Given the description of an element on the screen output the (x, y) to click on. 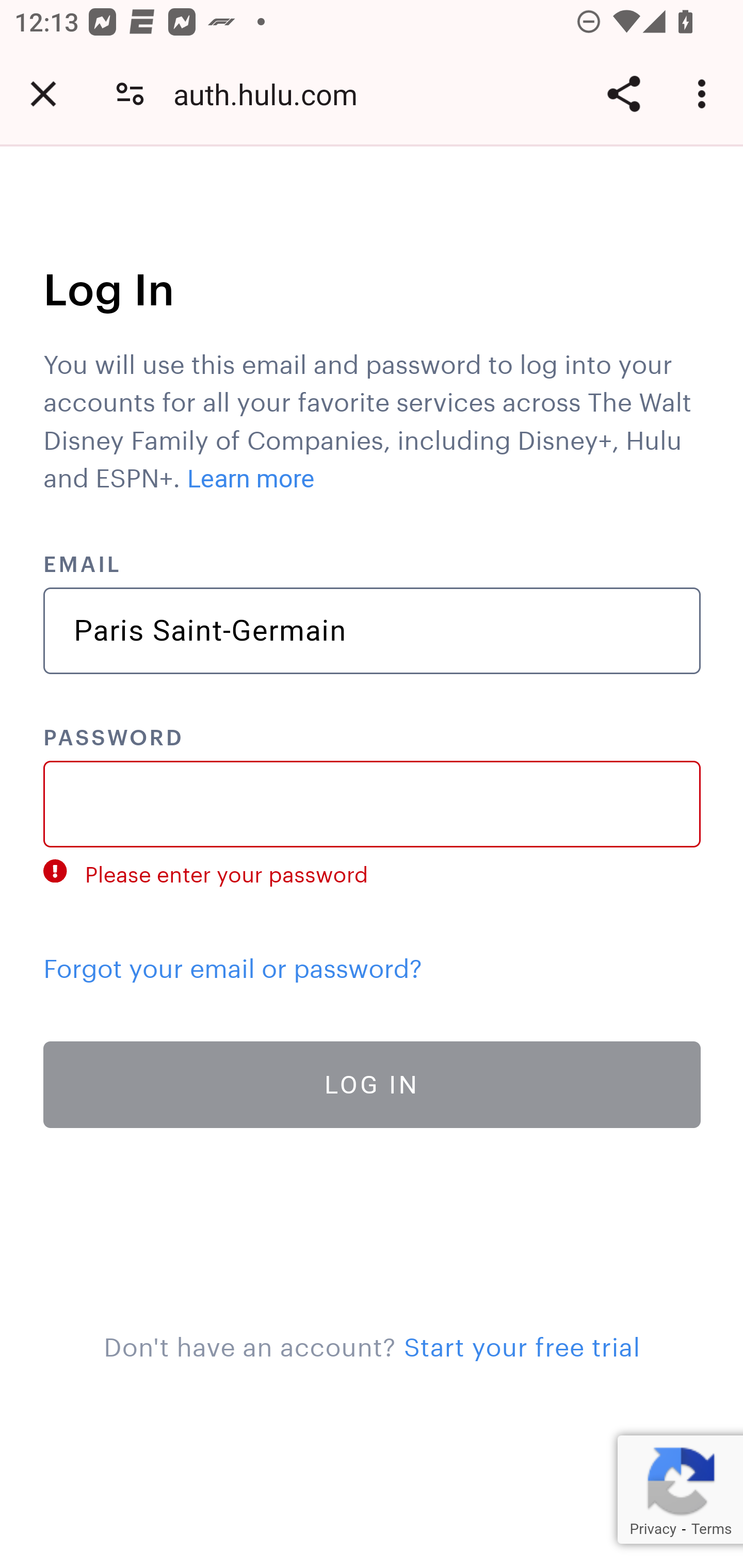
Close tab (43, 93)
Share (623, 93)
Customize and control Google Chrome (705, 93)
Connection is secure (129, 93)
auth.hulu.com (272, 93)
Learn more (250, 478)
Paris Saint-Germain (372, 630)
Forgot your email or password? (233, 963)
LOG IN (372, 1083)
Start your free trial (521, 1342)
Privacy (652, 1528)
Terms (711, 1528)
